Given the description of an element on the screen output the (x, y) to click on. 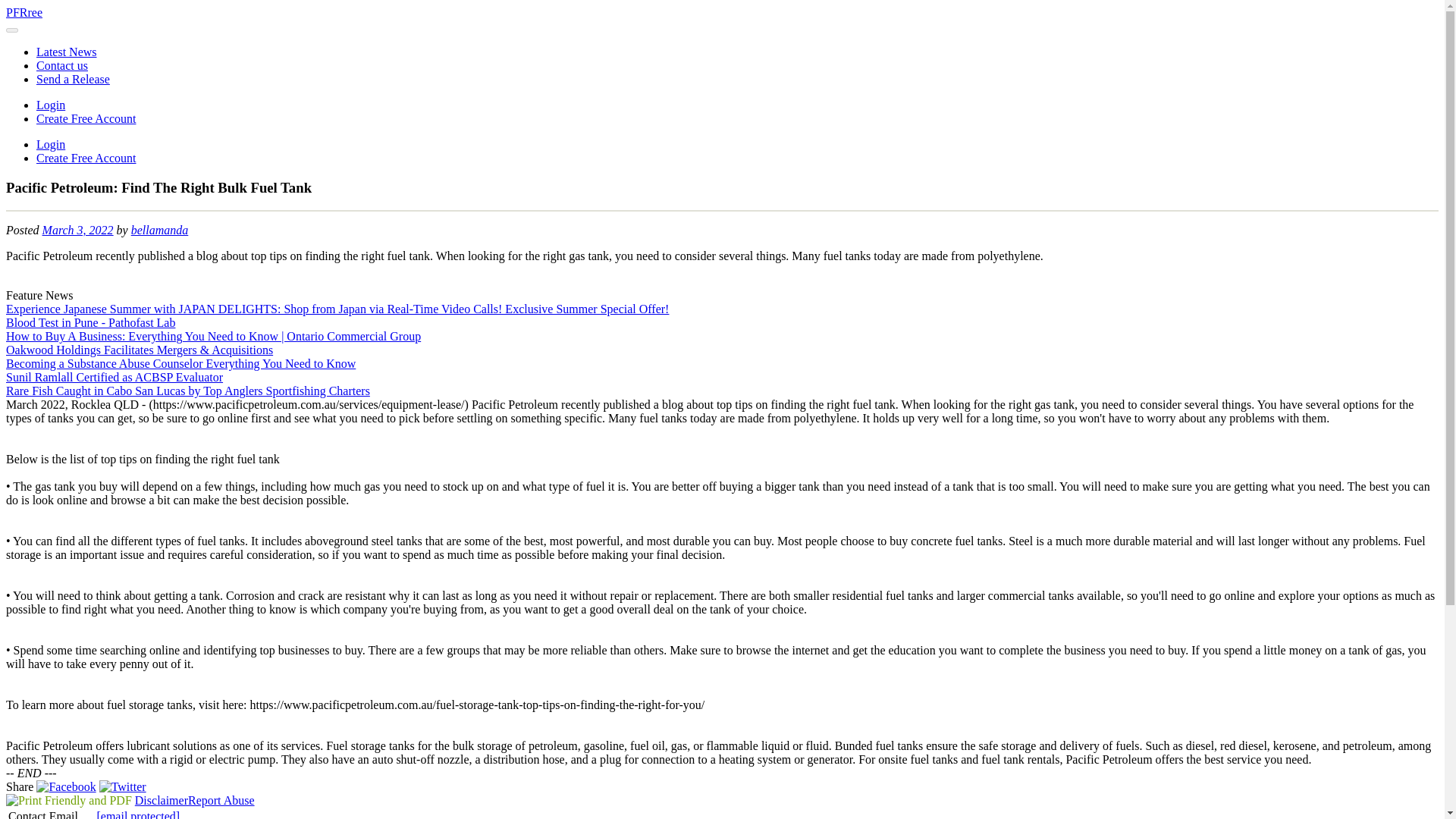
PFRree (23, 11)
Sunil Ramlall Certified as ACBSP Evaluator (113, 377)
March 3, 2022 (77, 229)
Printer Friendly and PDF (68, 799)
Create Free Account (86, 157)
Report Abuse (220, 799)
Login (50, 144)
Latest News (66, 51)
Disclaimer (161, 799)
Blood Test in Pune - Pathofast Lab (89, 322)
Login (50, 104)
Create Free Account (86, 118)
